Given the description of an element on the screen output the (x, y) to click on. 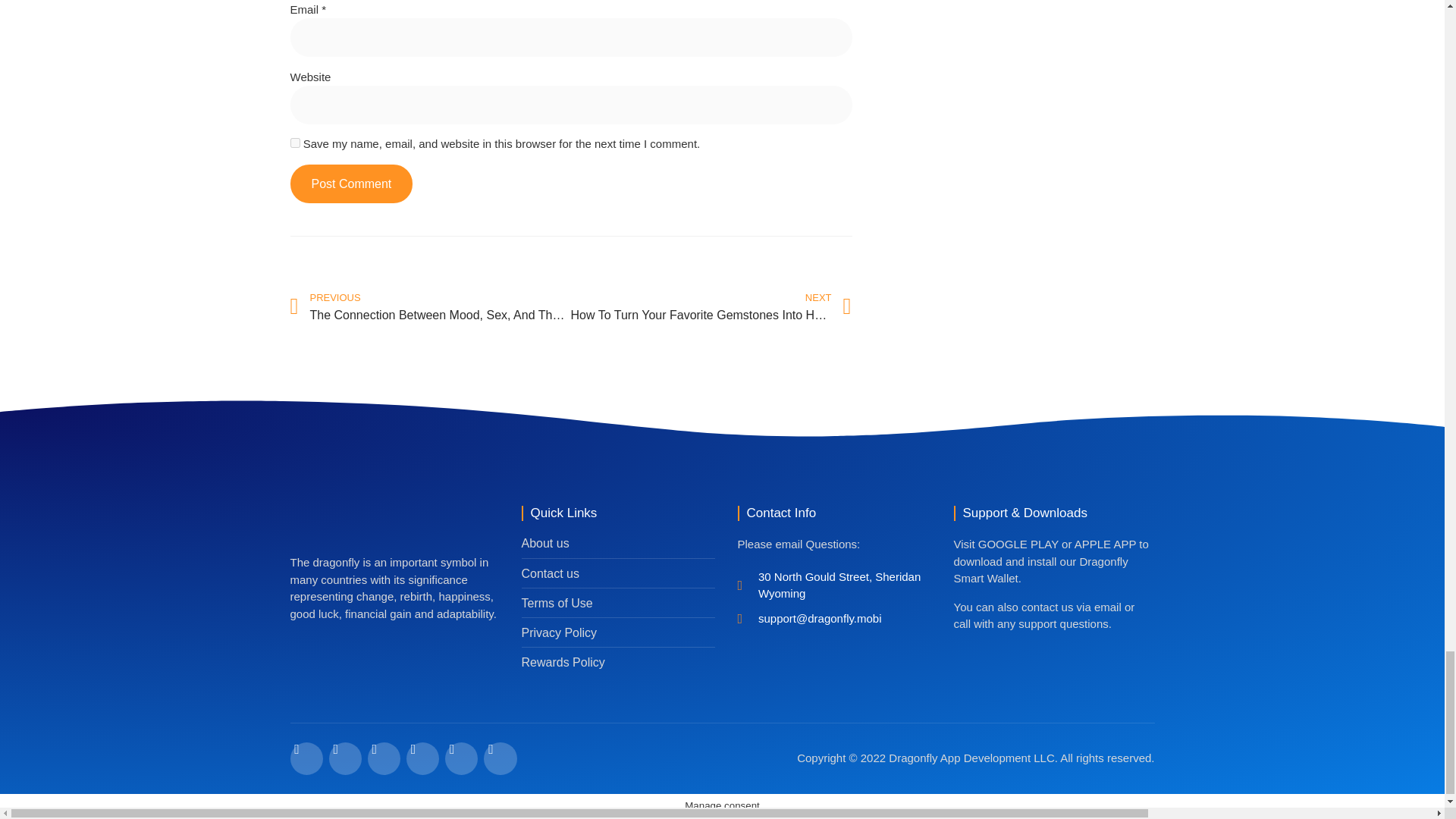
yes (294, 143)
Post Comment (350, 183)
